Given the description of an element on the screen output the (x, y) to click on. 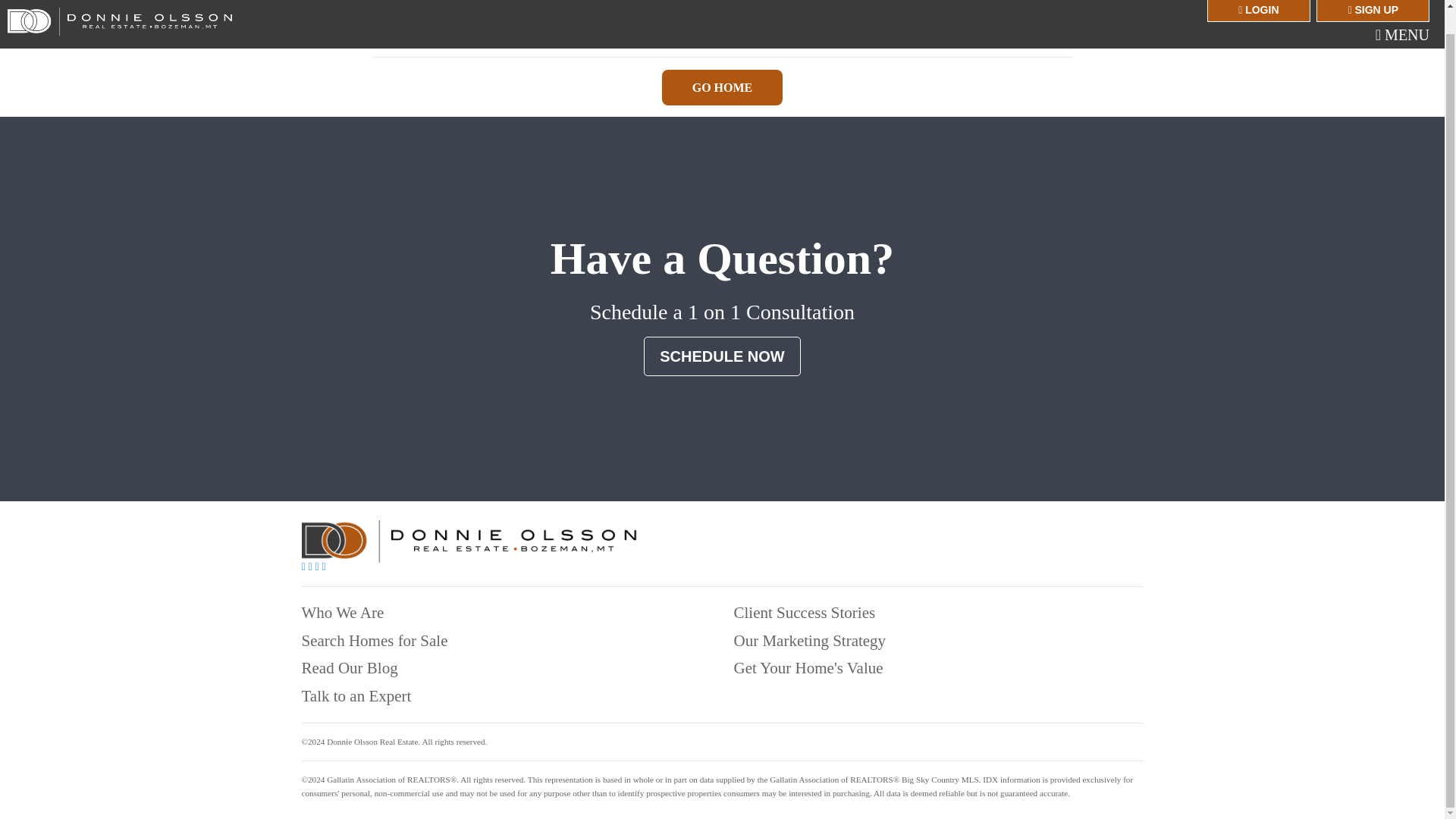
Talk to an Expert (356, 696)
Get Your Home's Value (808, 668)
Client Success Stories (804, 612)
Our Marketing Strategy (809, 640)
GO HOME (722, 87)
Search Homes for Sale (374, 640)
Who We Are (342, 612)
SCHEDULE NOW (721, 355)
Read Our Blog (349, 668)
